Given the description of an element on the screen output the (x, y) to click on. 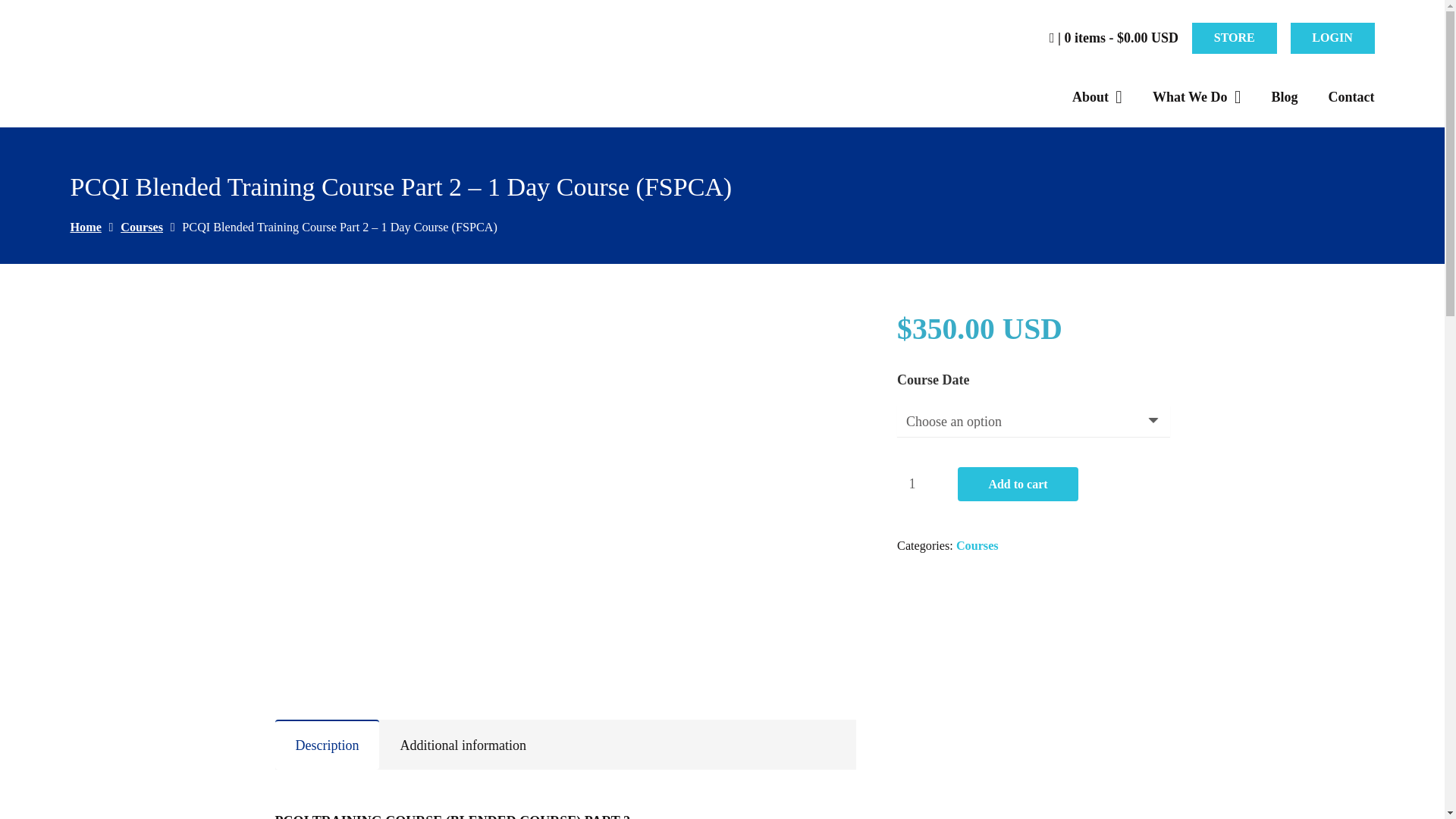
LOGIN (1332, 38)
What We Do (1196, 96)
Contact (1351, 96)
About (1097, 96)
1 (925, 484)
Blog (1284, 96)
STORE (1234, 38)
